Given the description of an element on the screen output the (x, y) to click on. 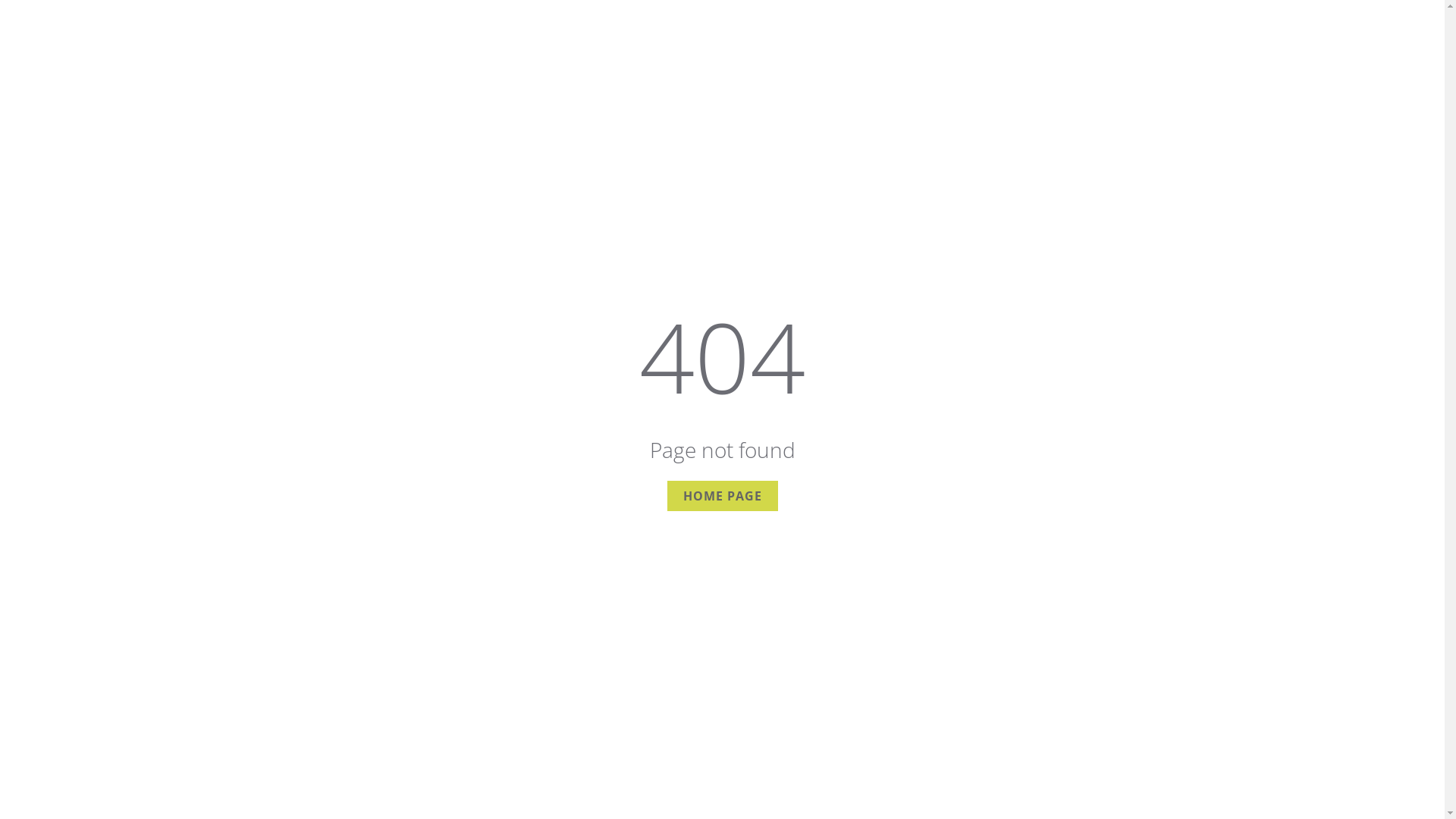
HOME PAGE Element type: text (722, 495)
